Given the description of an element on the screen output the (x, y) to click on. 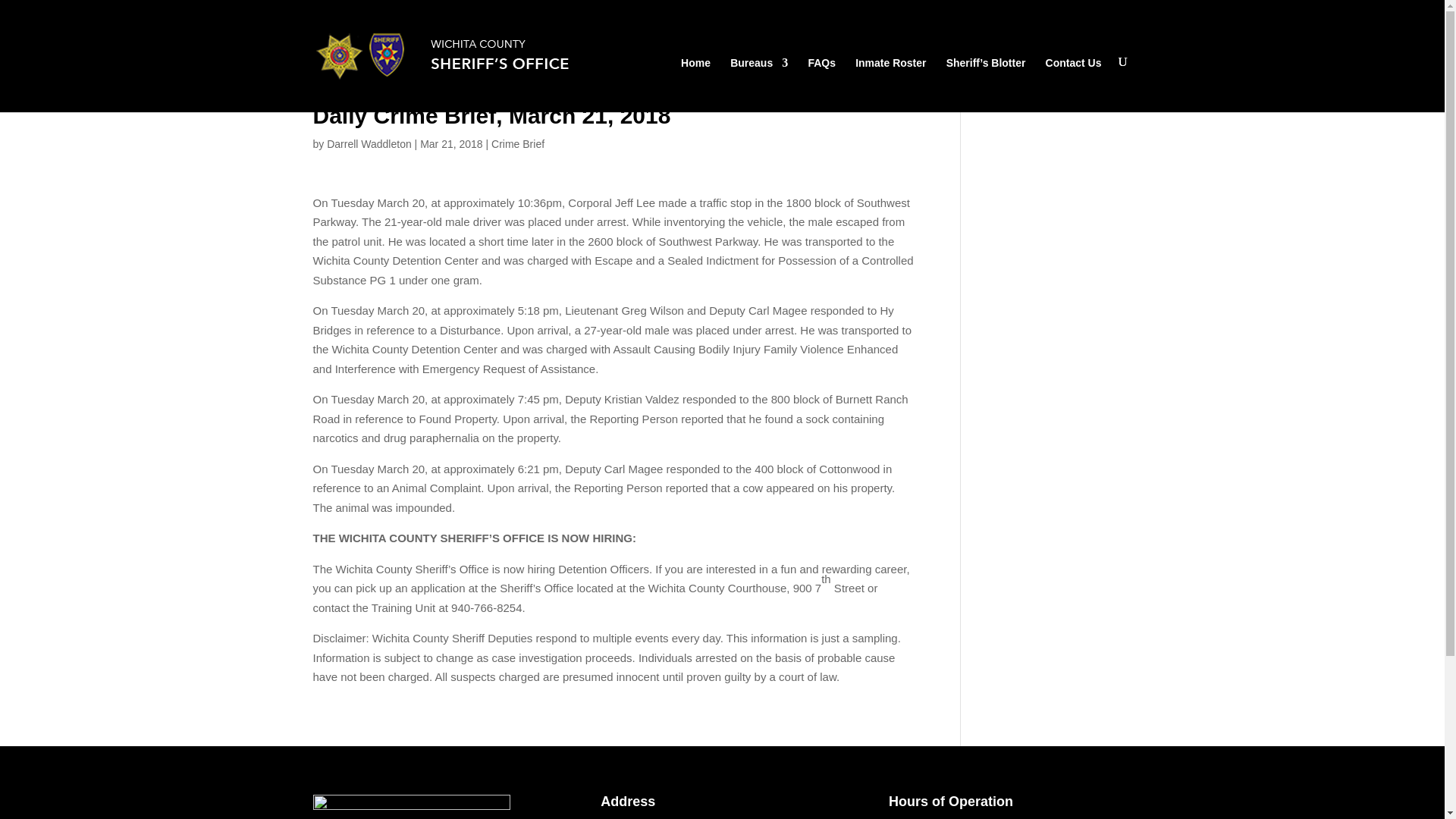
Darrell Waddleton (369, 143)
Crime Brief (518, 143)
Posts by Darrell Waddleton (369, 143)
Inmate Roster (891, 81)
Bureaus (758, 81)
Contact Us (1073, 81)
